Given the description of an element on the screen output the (x, y) to click on. 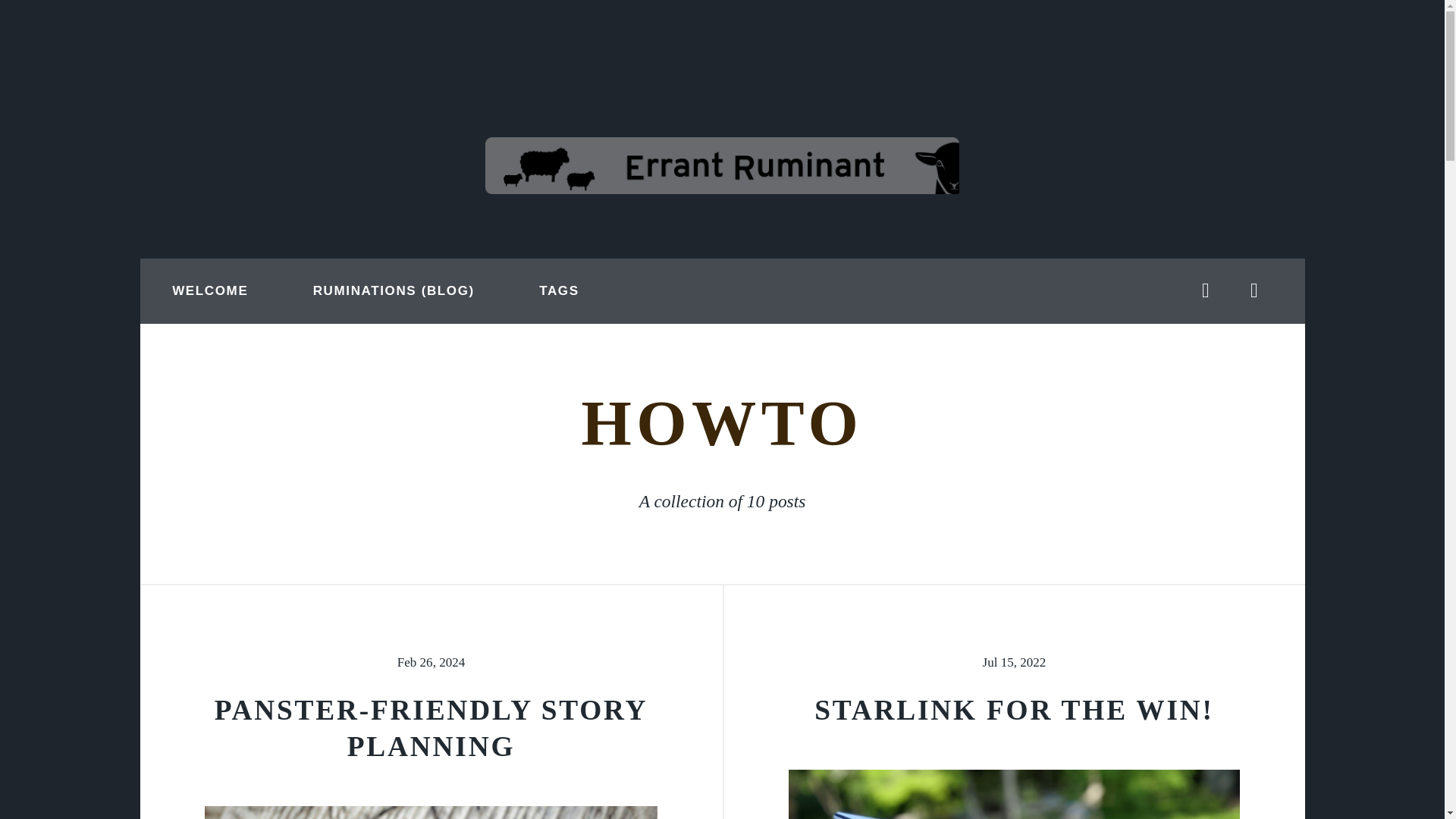
PANSTER-FRIENDLY STORY PLANNING (430, 728)
Twitter (1206, 291)
WELCOME (210, 290)
HOWTO (721, 422)
STARLINK FOR THE WIN! (1013, 709)
TAGS (558, 290)
